Given the description of an element on the screen output the (x, y) to click on. 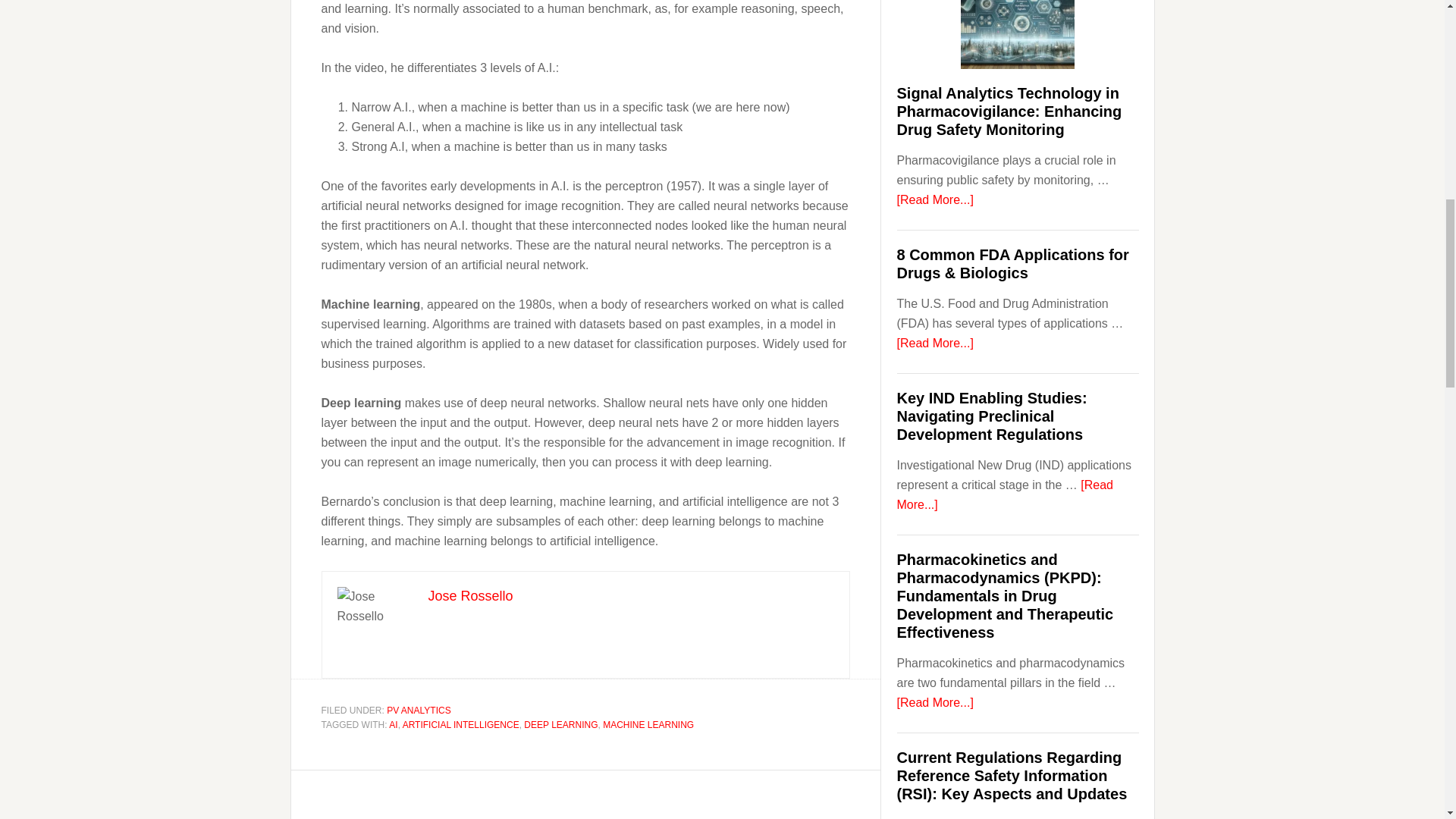
DEEP LEARNING (560, 724)
ARTIFICIAL INTELLIGENCE (461, 724)
Jose Rossello (470, 595)
MACHINE LEARNING (648, 724)
PV ANALYTICS (418, 710)
